Given the description of an element on the screen output the (x, y) to click on. 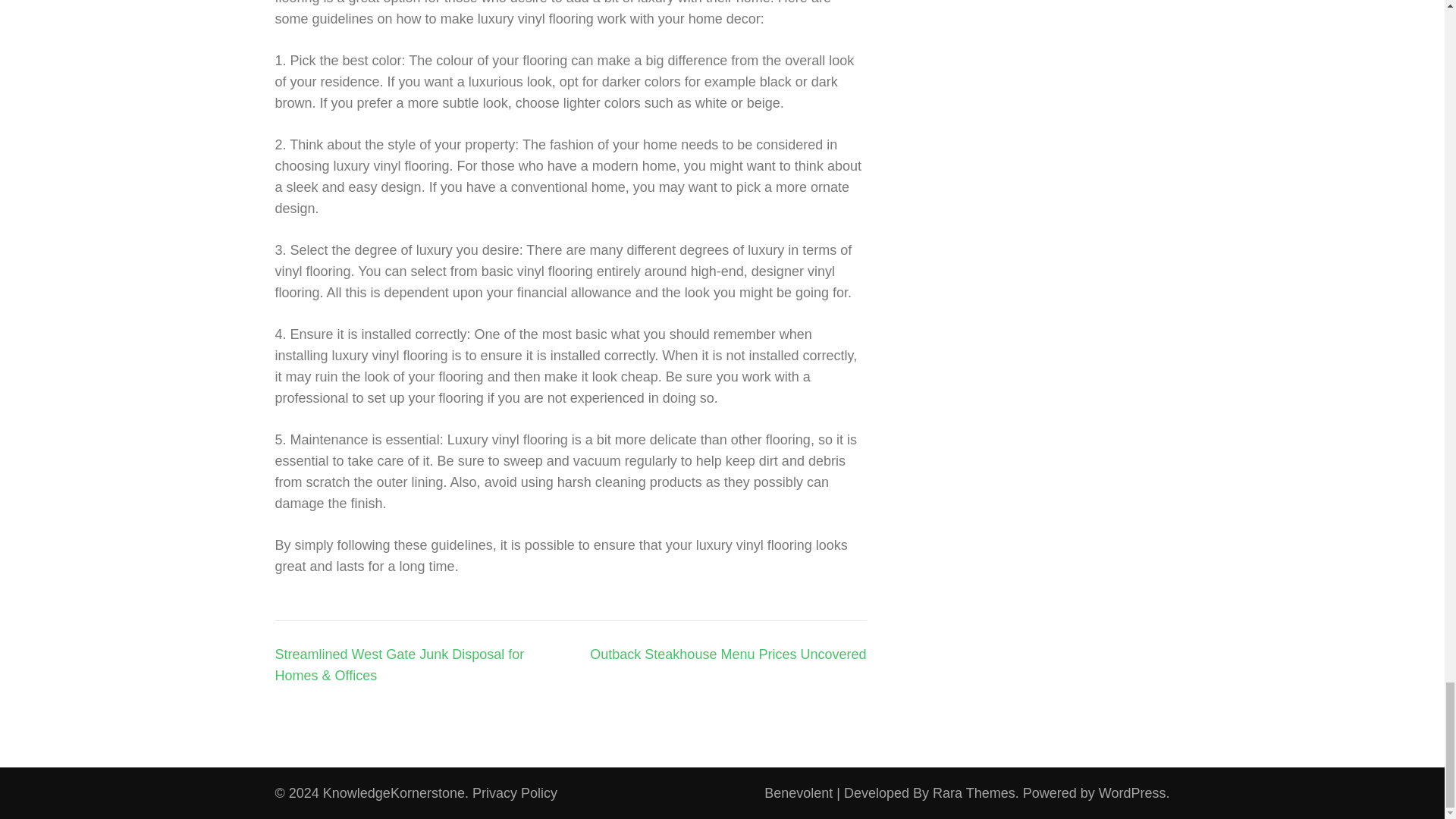
Outback Steakhouse Menu Prices Uncovered (727, 654)
